Given the description of an element on the screen output the (x, y) to click on. 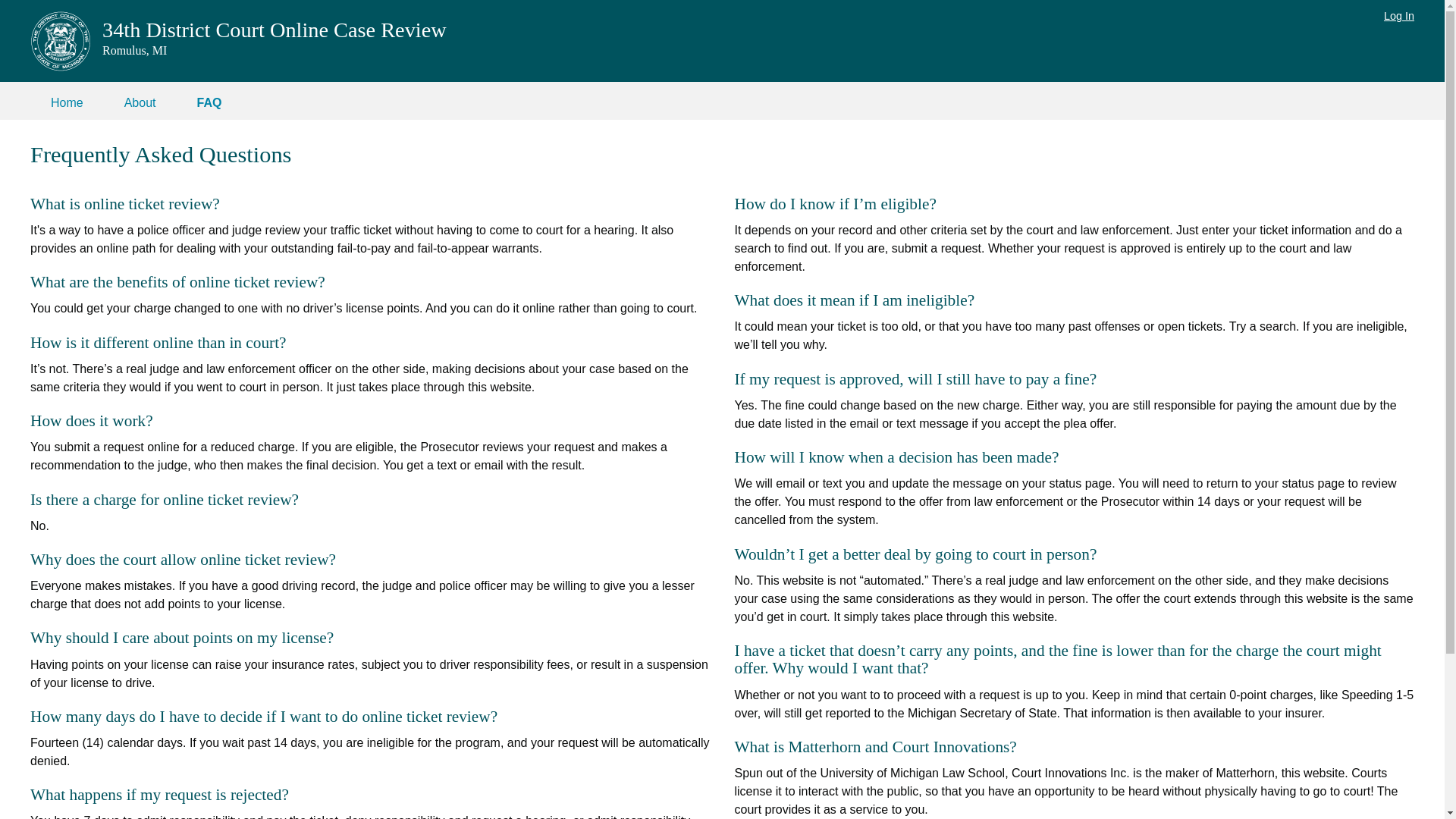
Home (66, 102)
About (140, 102)
Log In (1398, 15)
FAQ (208, 102)
